Given the description of an element on the screen output the (x, y) to click on. 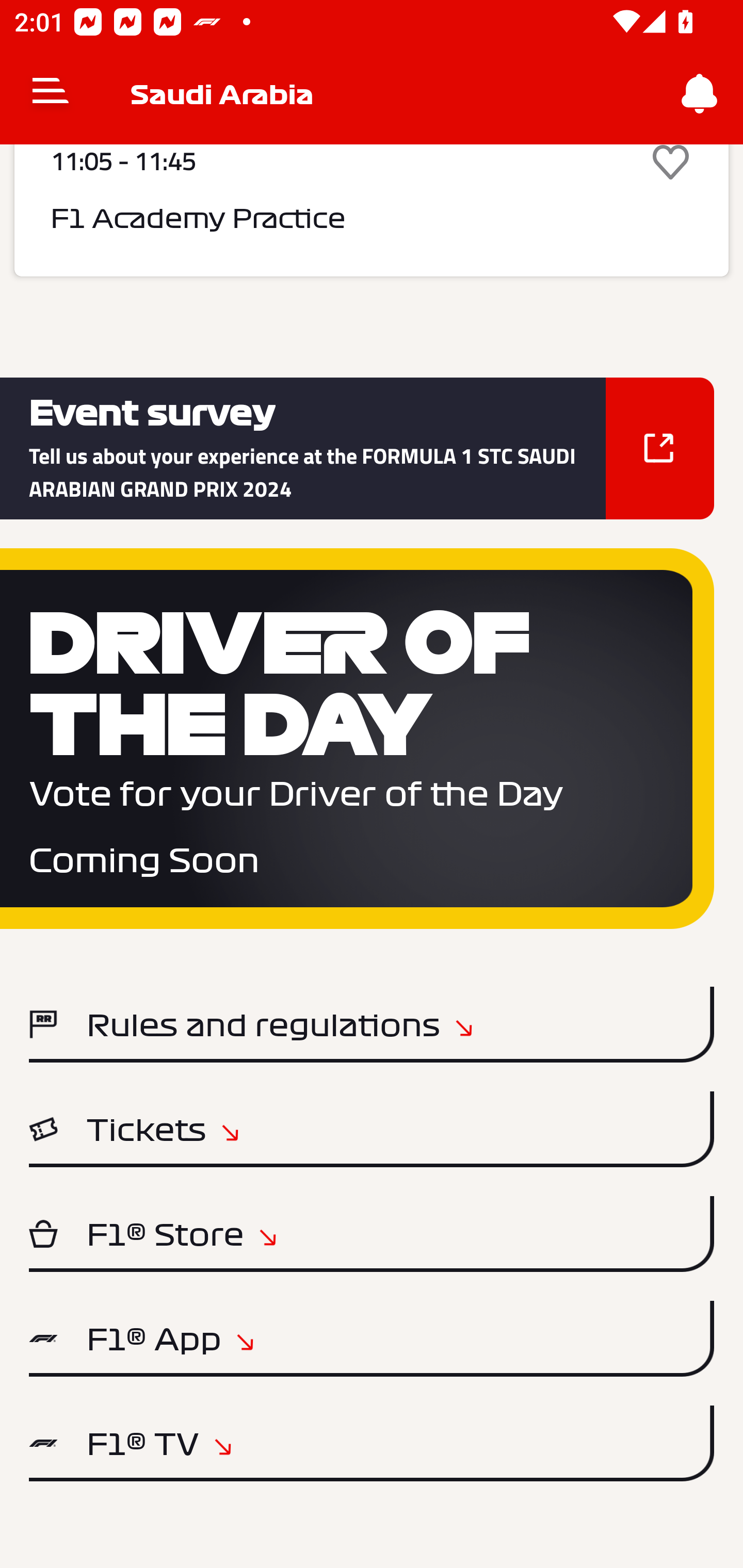
Navigate up (50, 93)
Notifications (699, 93)
11:05 - 11:45 F1 Academy Practice (371, 209)
Rules and regulations (371, 1024)
Tickets (371, 1128)
F1® Store (371, 1233)
F1® App (371, 1338)
F1® TV (371, 1442)
